Given the description of an element on the screen output the (x, y) to click on. 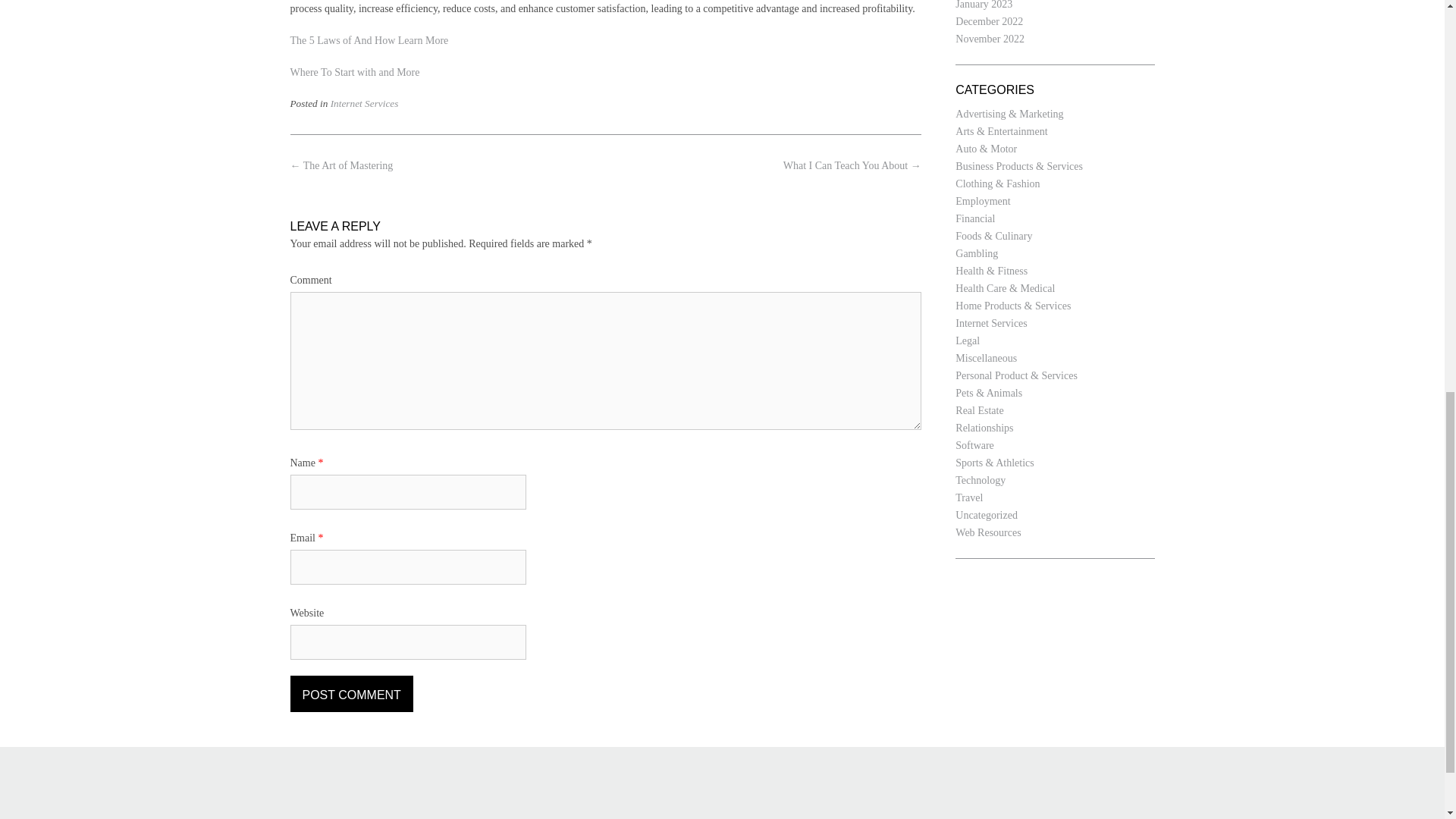
December 2022 (989, 21)
November 2022 (990, 39)
The 5 Laws of And How Learn More (368, 40)
Where To Start with and More (354, 71)
Post Comment (350, 693)
Post Comment (350, 693)
January 2023 (983, 4)
Internet Services (364, 102)
